Given the description of an element on the screen output the (x, y) to click on. 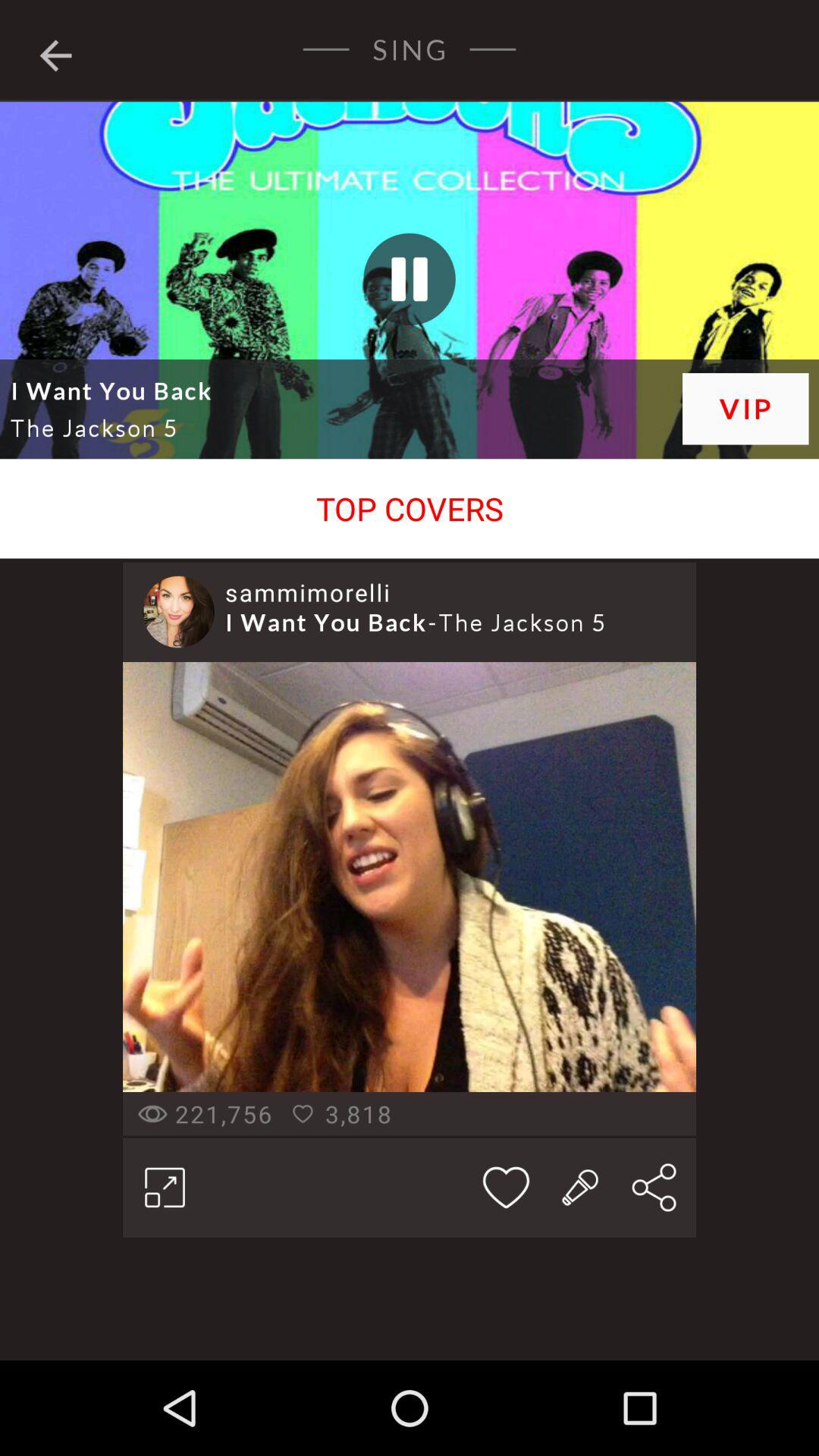
open icon at the top right corner (745, 408)
